Given the description of an element on the screen output the (x, y) to click on. 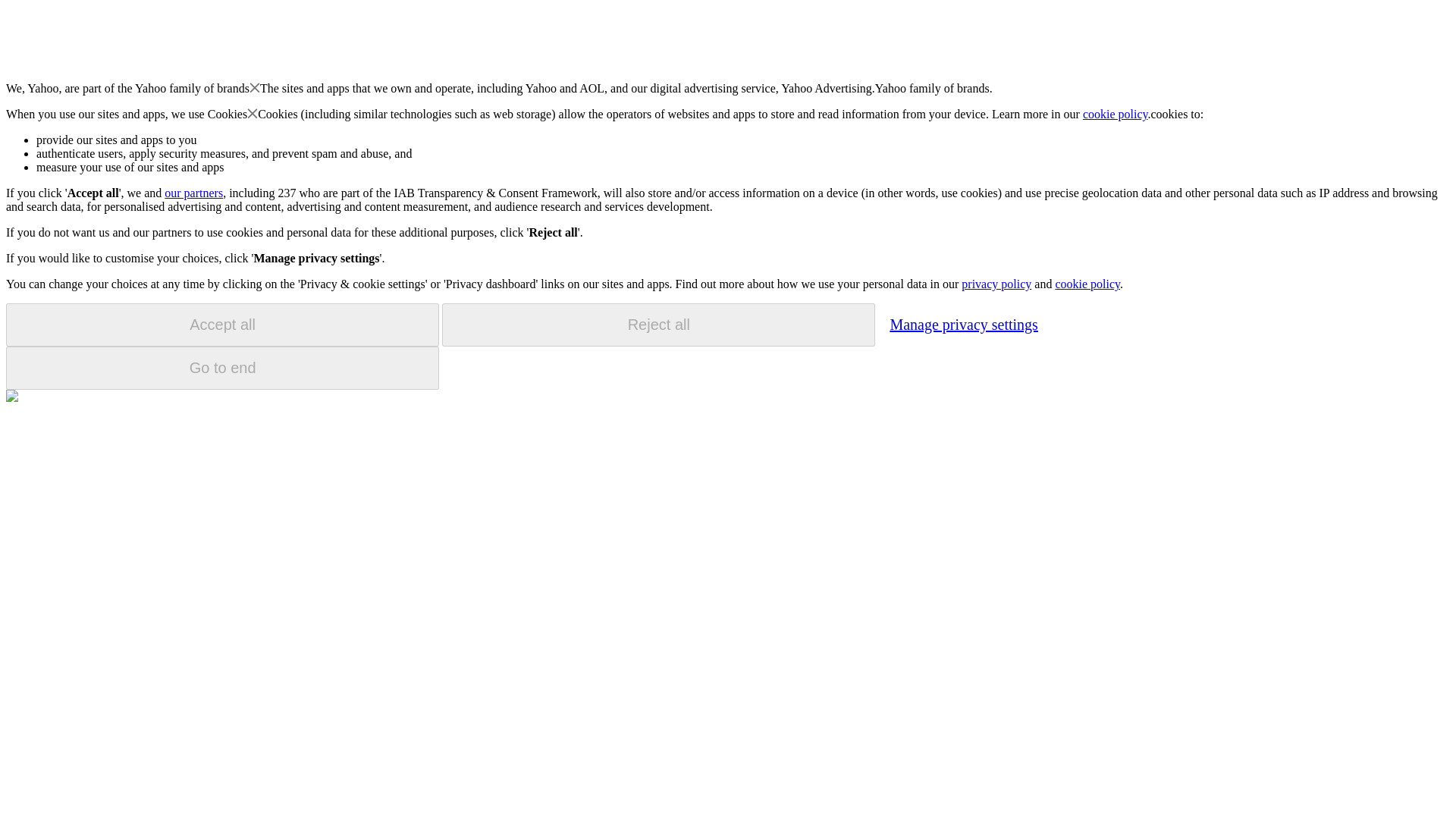
our partners (193, 192)
privacy policy (995, 283)
Accept all (222, 324)
Go to end (222, 367)
Manage privacy settings (963, 323)
cookie policy (1086, 283)
Reject all (658, 324)
cookie policy (1115, 113)
